Given the description of an element on the screen output the (x, y) to click on. 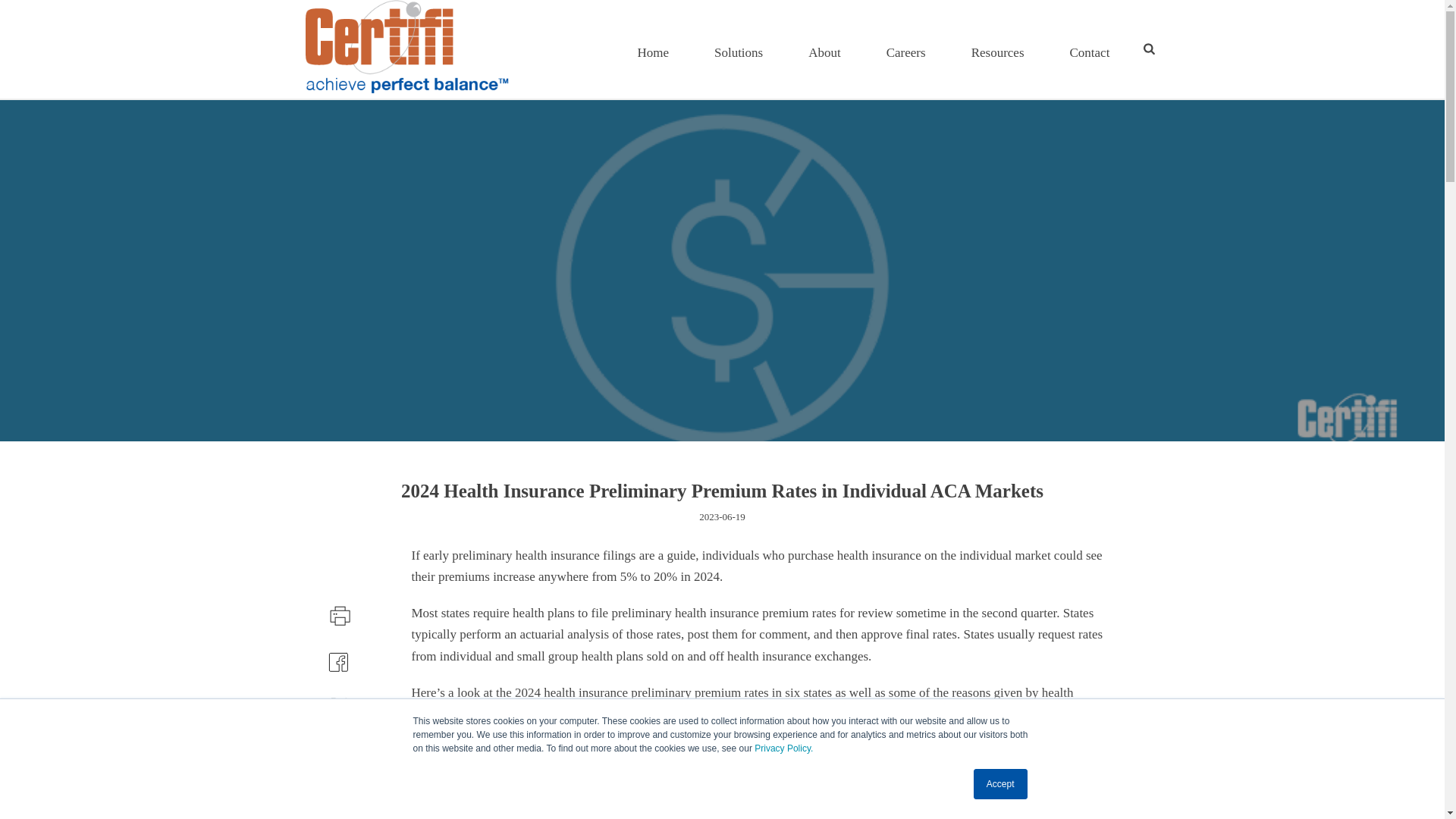
Print (19, 780)
Accessibility Tools (338, 613)
Resources (19, 780)
Privacy Policy. (997, 49)
Accept (783, 747)
Accessibility Tools (1000, 784)
Subscribe Now (19, 781)
Solutions (1307, 787)
Resources (738, 49)
Solutions (997, 49)
